Given the description of an element on the screen output the (x, y) to click on. 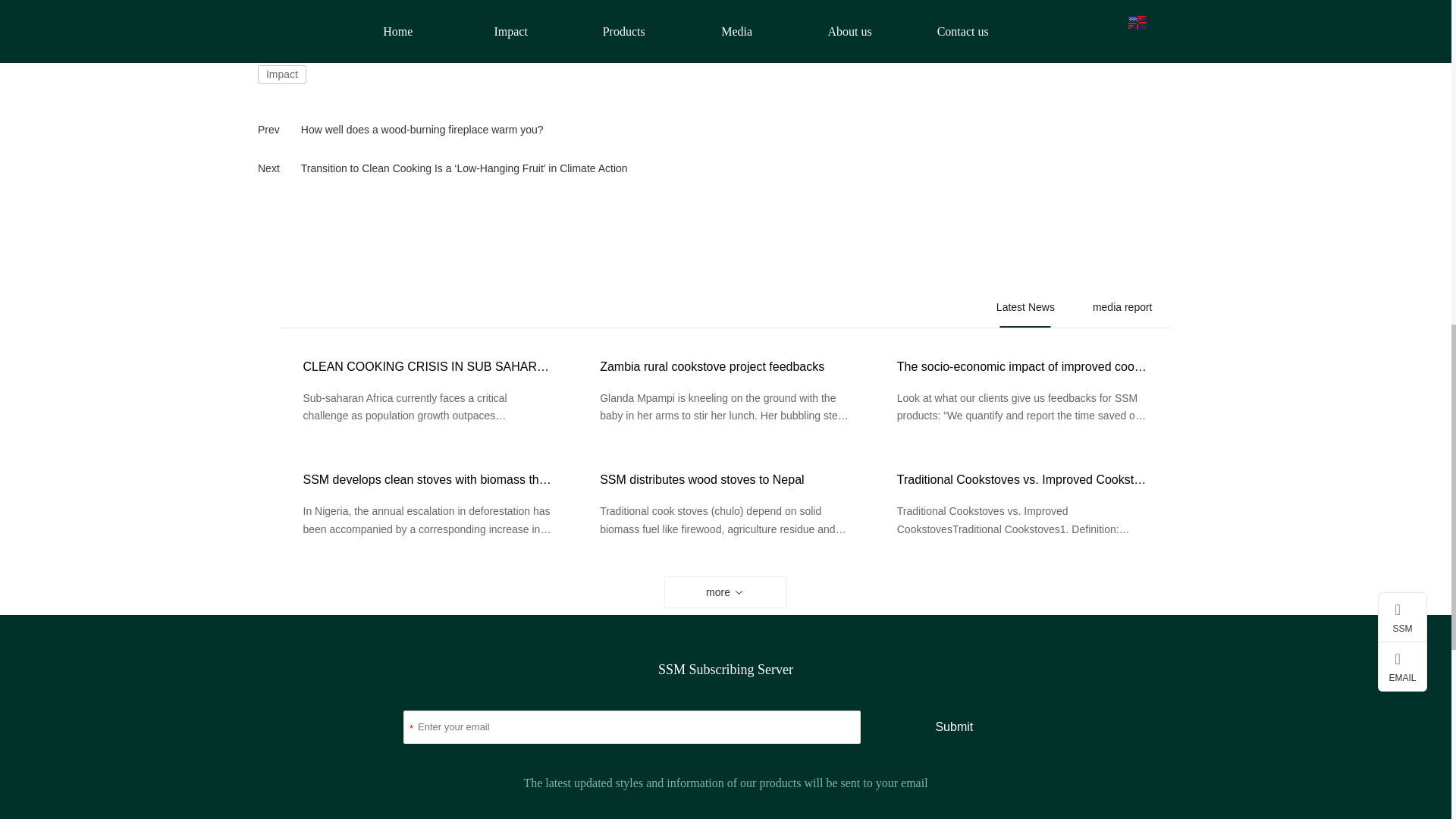
How well does a wood-burning fireplace warm you? (422, 129)
Impact (281, 74)
